Given the description of an element on the screen output the (x, y) to click on. 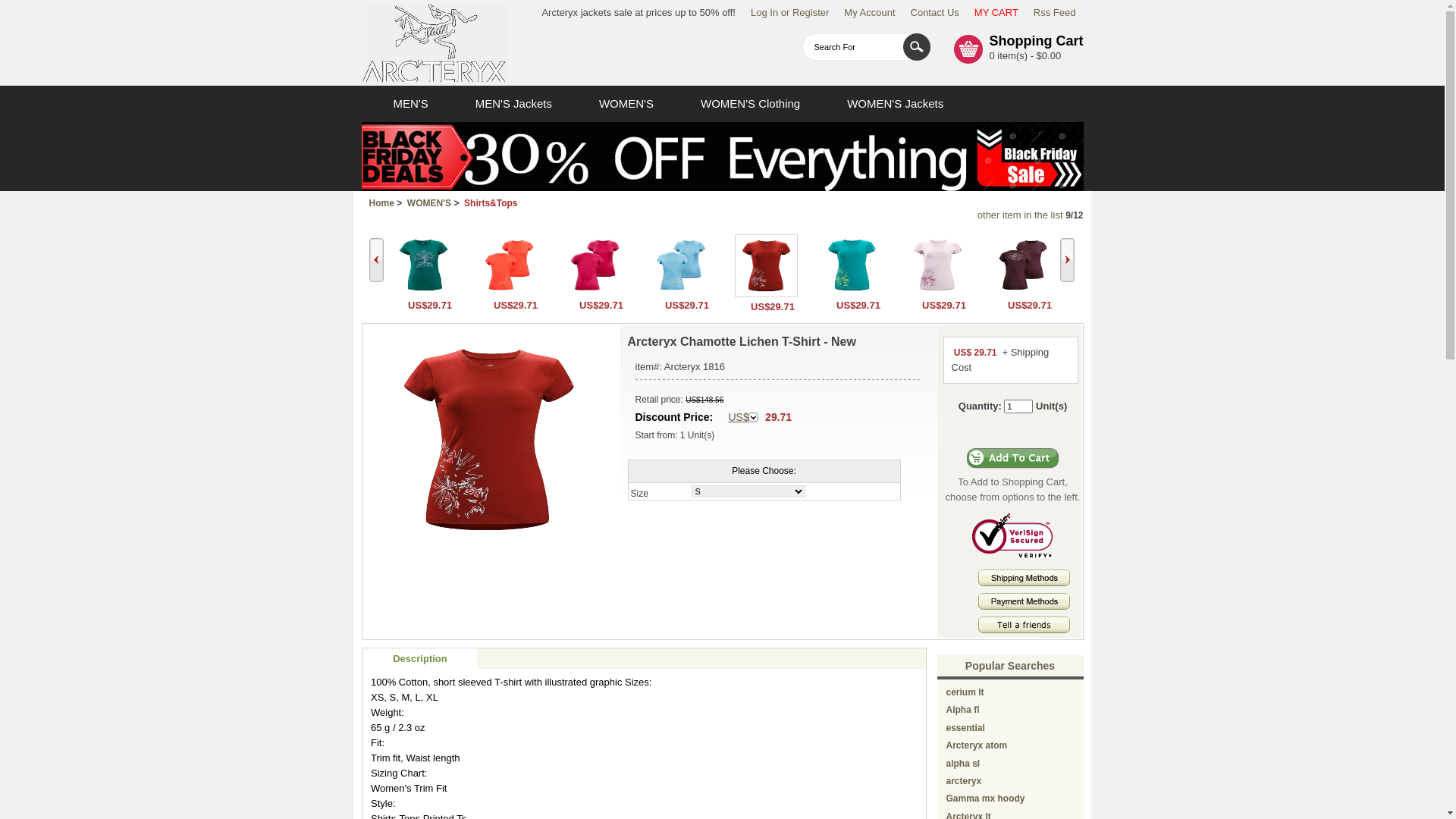
Shirts&Tops Element type: text (490, 202)
alpha sl Element type: text (963, 762)
Arcteryx Peacock Evolution Tree T-Shirt Element type: hover (423, 292)
Payment methods Element type: hover (1024, 605)
My Account Element type: text (869, 12)
Arcteryx LilacLichen T-Shirt - New Element type: hover (937, 264)
Contact Us Element type: text (934, 12)
Log In or Register Element type: text (789, 12)
Next Element type: hover (1067, 260)
Arcteryx Autumn Coral Graph Bird T-Shirt Element type: hover (508, 292)
Arcteryx atom Element type: text (976, 744)
Rss Feed Element type: text (1054, 12)
essential Element type: text (965, 727)
Arcteryx Chamotte Lichen T-Shirt - New Element type: hover (765, 293)
Arcteryx LilacLichen T-Shirt - New Element type: hover (937, 292)
GO Element type: text (915, 46)
 Arcteryx Chamotte Lichen T-Shirt - New  Element type: hover (489, 439)
MY CART Element type: text (996, 12)
other item in the list Element type: text (1020, 214)
arcteryx Element type: text (964, 780)
cerium lt Element type: text (965, 691)
US$ Element type: text (742, 417)
Arcteryx Autumn Coral Graph Bird T-Shirt Element type: hover (508, 264)
Arcteryx Peacock Evolution Tree T-Shirt Element type: hover (423, 264)
MEN'S Element type: text (410, 103)
Arcteryx Curacao Blue Lichen T-Shirt - New Element type: hover (850, 292)
Arcteryx Sky Graph Bird T-Shirt Element type: hover (679, 264)
Arcteryx Cassis Rose Graph Bird T-Shirt Element type: hover (594, 264)
MEN'S Jackets Element type: text (513, 103)
Gamma mx hoody Element type: text (985, 797)
WOMEN'S Element type: text (429, 202)
Home Element type: text (380, 202)
Alpha fl Element type: text (962, 709)
WOMEN'S Jackets Element type: text (895, 103)
Add to Cart Element type: hover (1012, 458)
Arcteryx Curacao Blue Lichen T-Shirt - New Element type: hover (850, 264)
Shipping Methods Element type: hover (1024, 582)
Arcteryx Cassis Rose Graph Bird T-Shirt Element type: hover (594, 292)
Arcteryx Mollusk Multi Bird T-Shirt - New Element type: hover (1022, 264)
Back Element type: hover (375, 260)
Arcteryx Sky Graph Bird T-Shirt Element type: hover (679, 292)
 Shipping Methods  Element type: hover (1024, 577)
Popular Searches Element type: text (1009, 665)
WOMEN'S Clothing Element type: text (749, 103)
 Tell A Friends  Element type: hover (1024, 624)
WOMEN'S Element type: text (626, 103)
 Payment Methods  Element type: hover (1024, 601)
 arcteryx sale  Element type: hover (432, 42)
Arcteryx Chamotte Lichen T-Shirt - New Element type: hover (765, 265)
Arcteryx Mollusk Multi Bird T-Shirt - New Element type: hover (1022, 292)
